Given the description of an element on the screen output the (x, y) to click on. 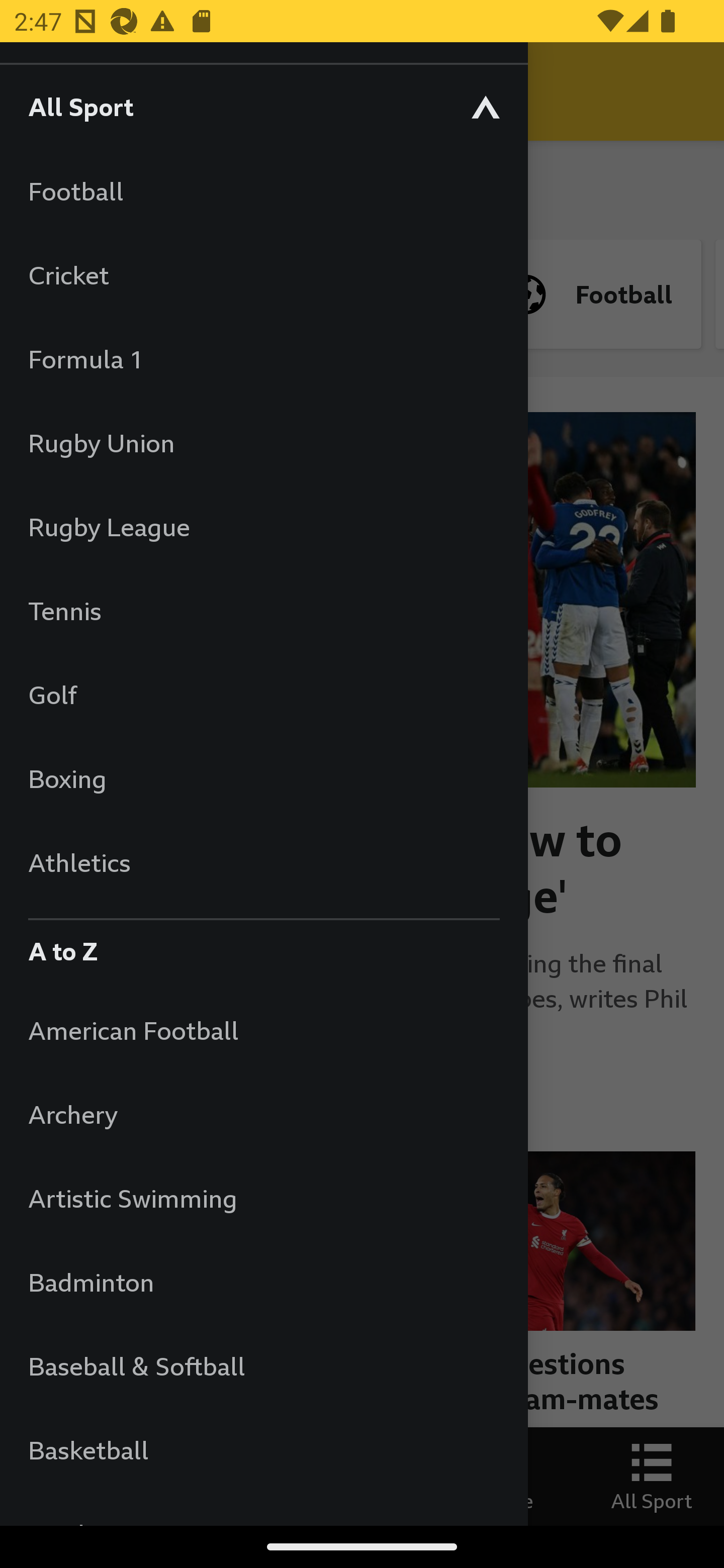
All Sport (263, 105)
Football (263, 190)
Cricket (263, 274)
Formula 1 (263, 358)
Rugby Union (263, 441)
Rugby League (263, 526)
Tennis (263, 609)
Golf (263, 694)
Boxing (263, 778)
Athletics (263, 862)
A to Z (263, 945)
American Football (263, 1029)
Archery (263, 1114)
Artistic Swimming (263, 1197)
Badminton (263, 1282)
Baseball & Softball (263, 1365)
Basketball (263, 1450)
